Given the description of an element on the screen output the (x, y) to click on. 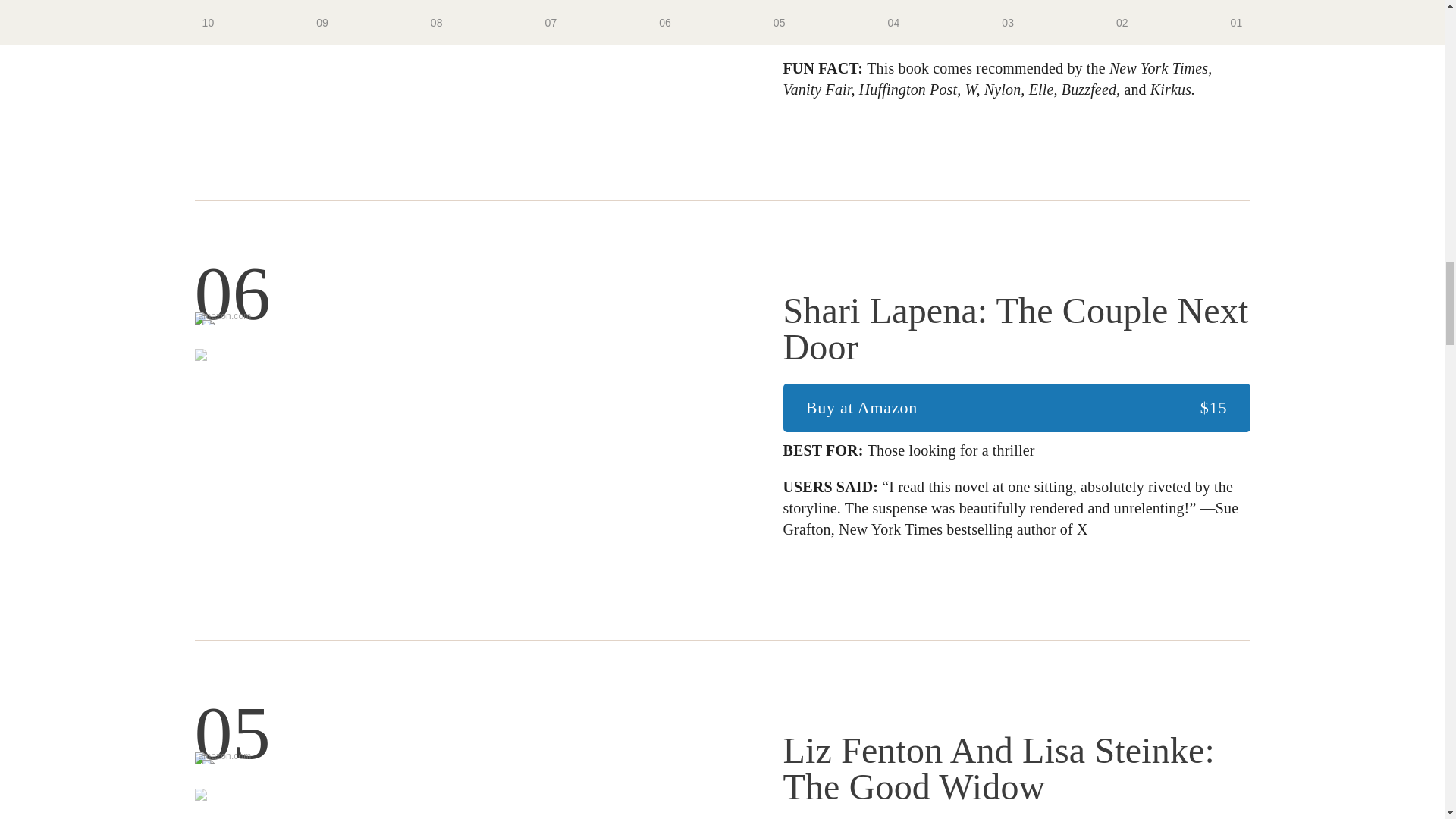
Liz Fenton And Lisa Steinke: The Good Widow (1016, 768)
Shari Lapena: The Couple Next Door (457, 302)
